Given the description of an element on the screen output the (x, y) to click on. 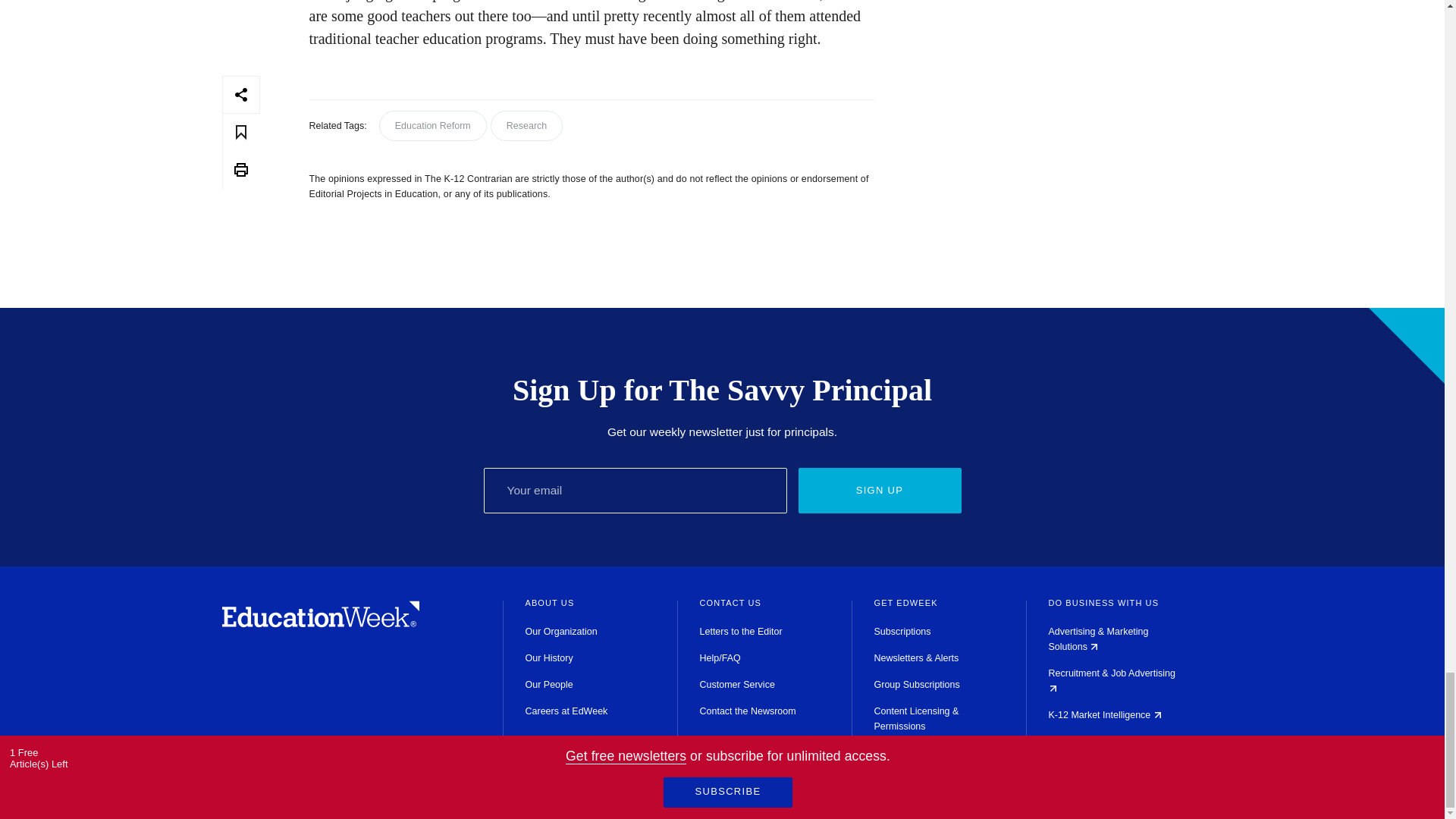
Homepage (320, 623)
